Given the description of an element on the screen output the (x, y) to click on. 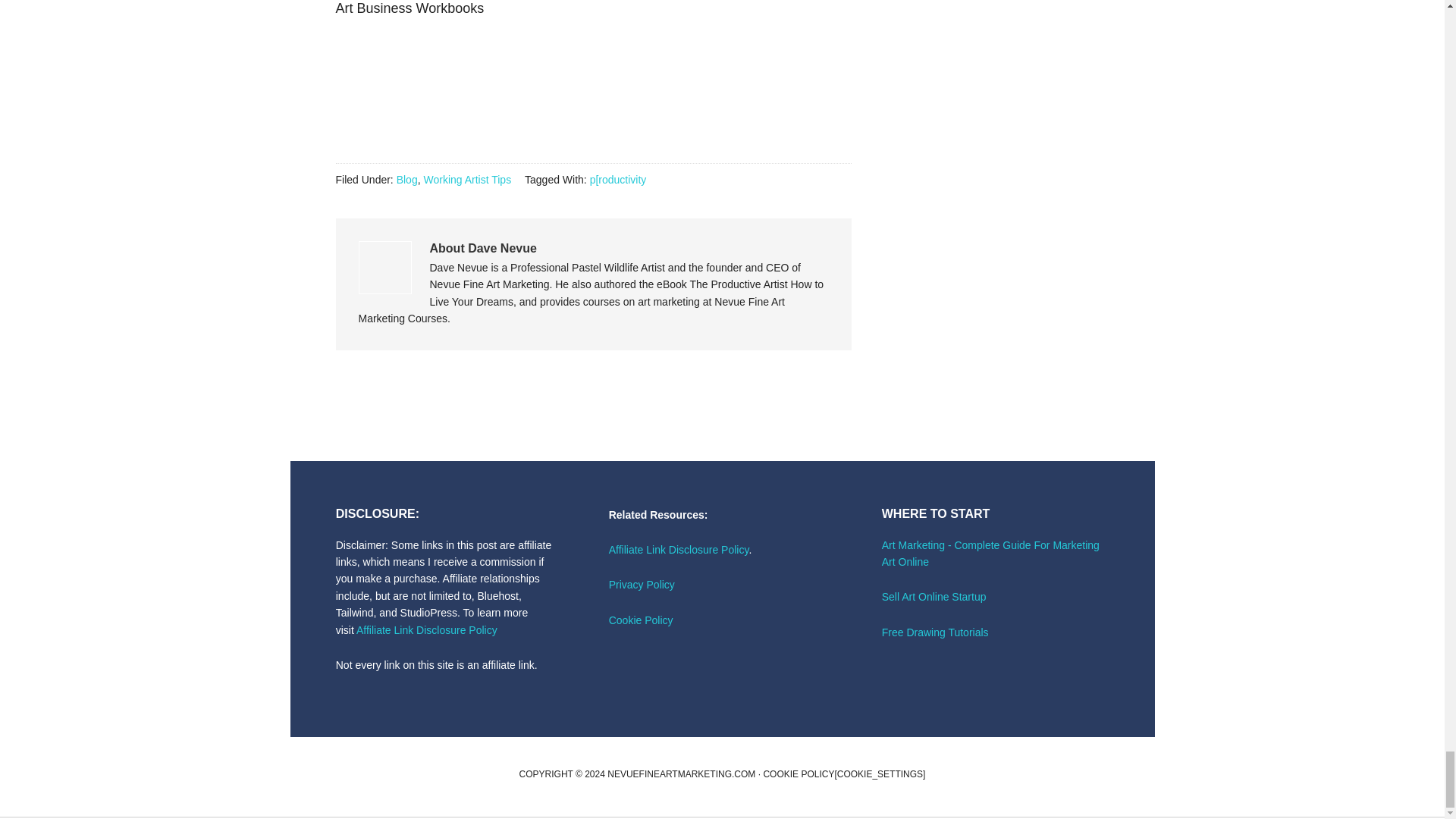
Blog (406, 179)
